Given the description of an element on the screen output the (x, y) to click on. 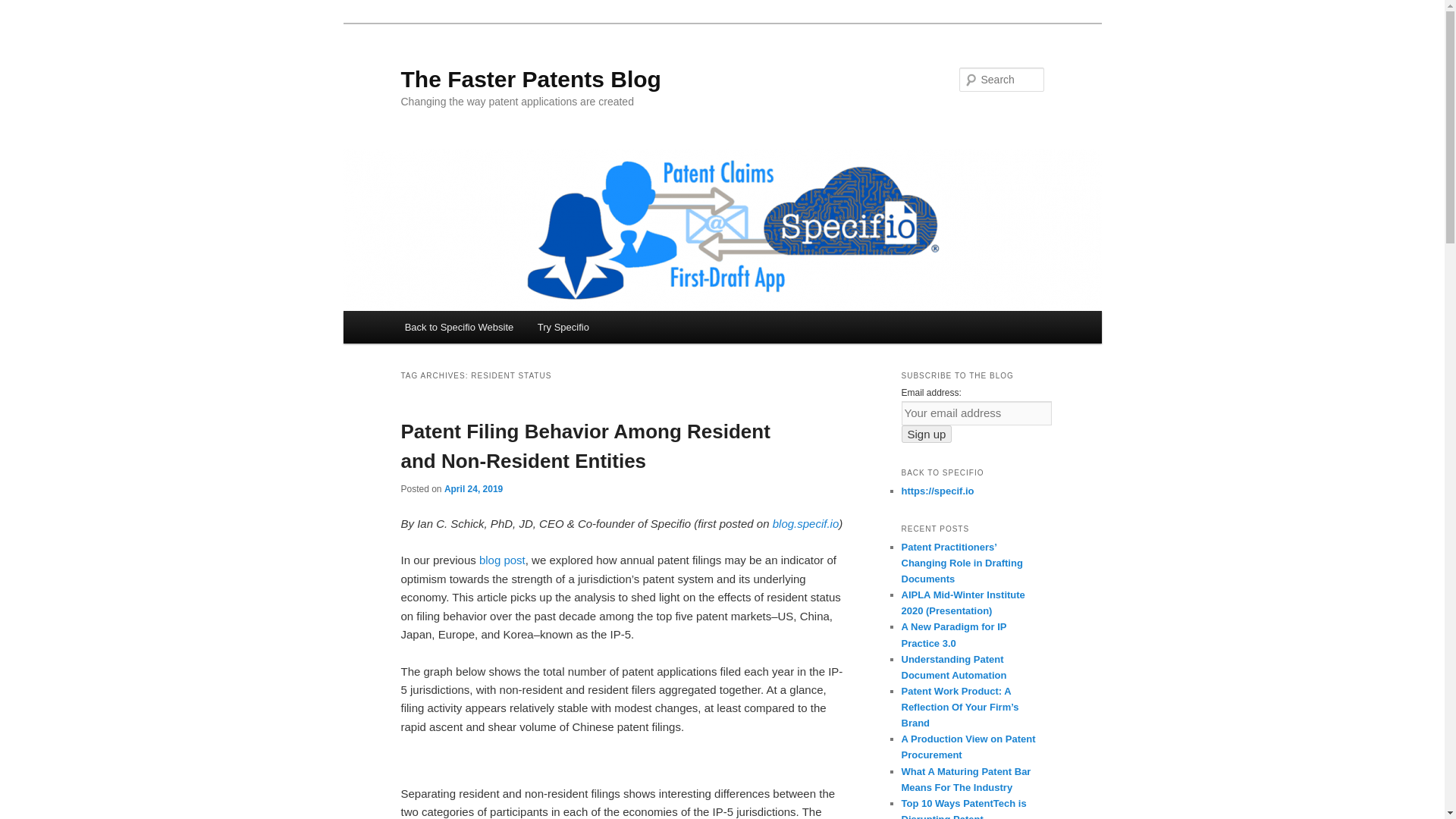
Try Specifio (563, 327)
The Faster Patents Blog (530, 78)
A Production View on Patent Procurement (968, 746)
What A Maturing Patent Bar Means For The Industry (965, 779)
Sign up (926, 434)
Sign up (926, 434)
Understanding Patent Document Automation (953, 666)
Search (24, 8)
4:36 pm (473, 489)
Back to Specifio Website (459, 327)
